Given the description of an element on the screen output the (x, y) to click on. 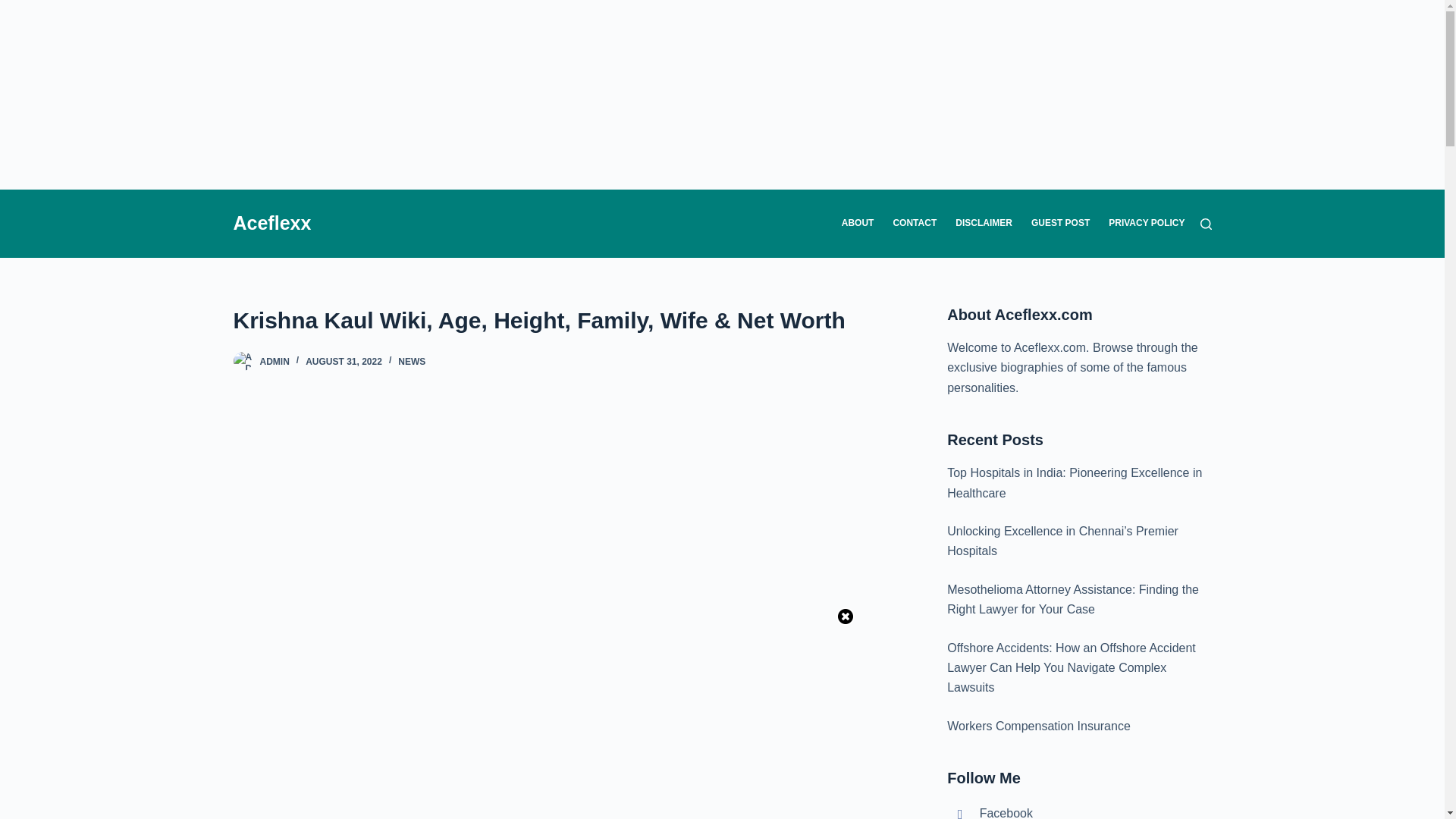
Workers Compensation Insurance (1039, 725)
ADMIN (273, 361)
GUEST POST (1060, 223)
Top Hospitals in India: Pioneering Excellence in Healthcare (1074, 482)
NEWS (411, 361)
Skip to content (15, 7)
Facebook (989, 812)
Aceflexx (271, 222)
CONTACT (914, 223)
Facebook (989, 812)
DISCLAIMER (984, 223)
Posts by Admin (273, 361)
PRIVACY POLICY (1142, 223)
